Given the description of an element on the screen output the (x, y) to click on. 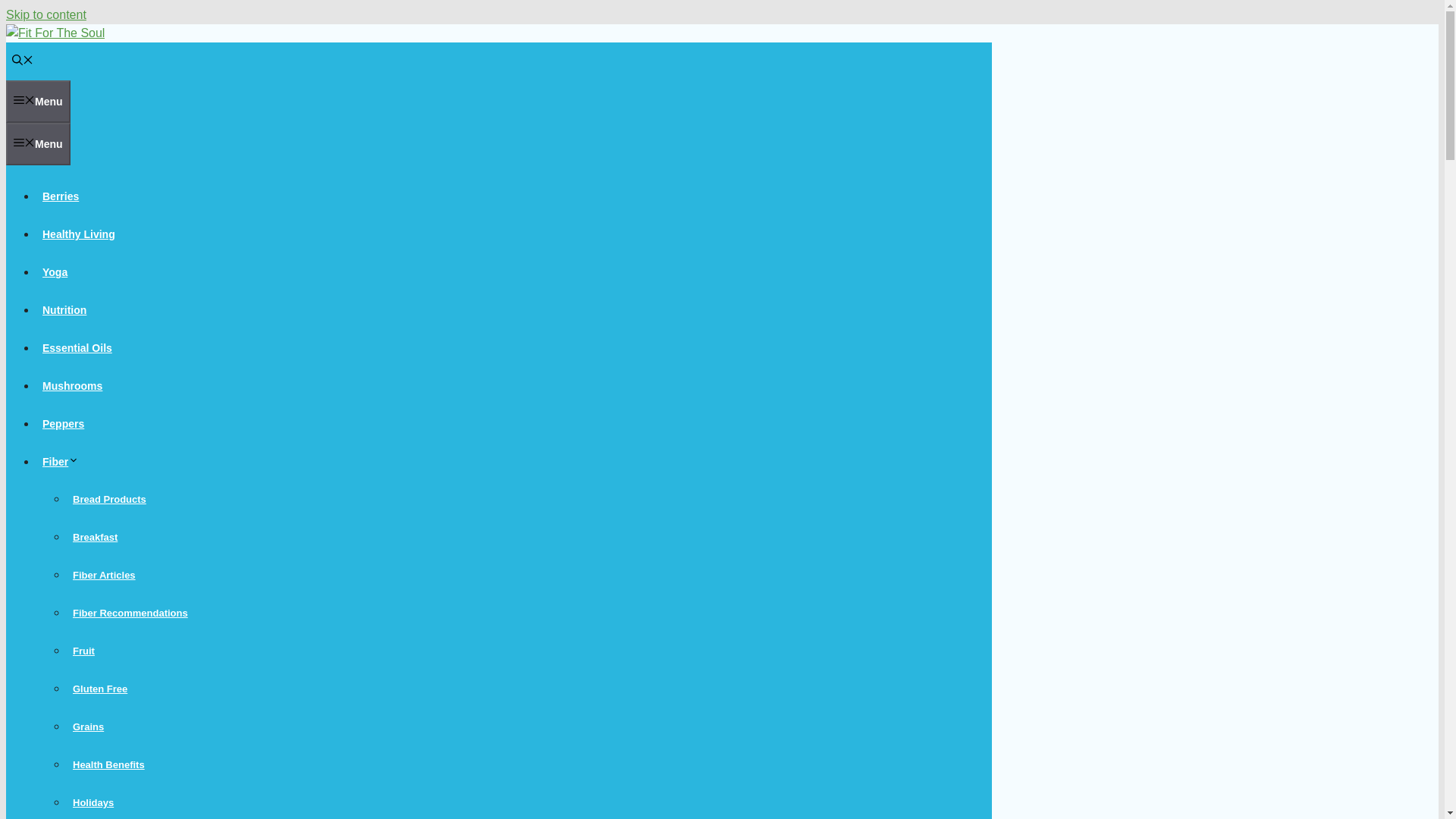
Fiber Articles (103, 574)
Fiber (63, 461)
Mushrooms (71, 386)
Fruit (83, 651)
Healthy Living (78, 234)
Peppers (63, 423)
Berries (60, 196)
Health Benefits (108, 764)
Yoga (55, 272)
Fiber Recommendations (129, 612)
Bread Products (109, 499)
Skip to content (45, 14)
Grains (88, 726)
Skip to content (45, 14)
Holidays (92, 802)
